Given the description of an element on the screen output the (x, y) to click on. 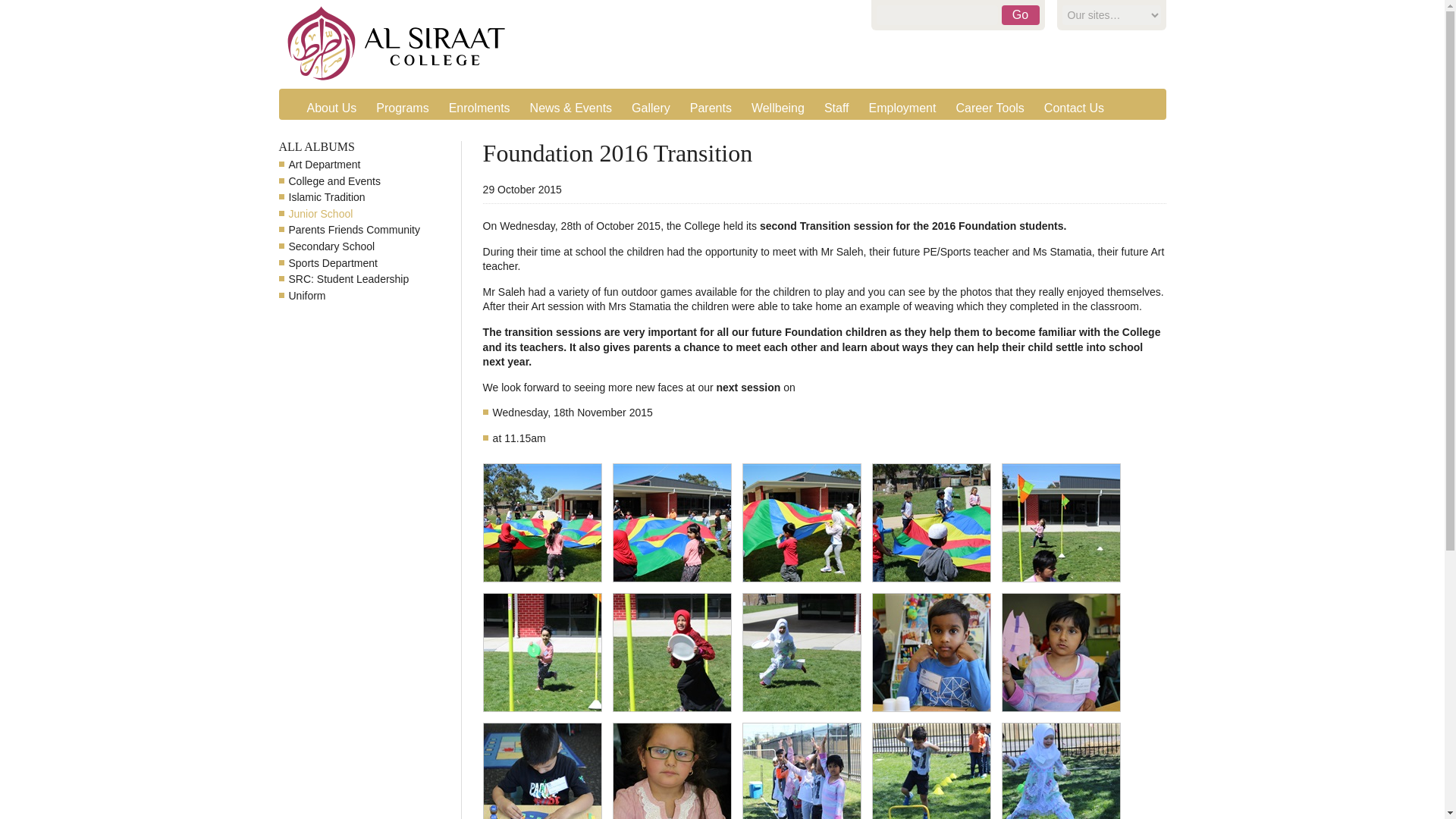
Go (1020, 14)
Programs (402, 107)
Enrolments (480, 107)
Go (1020, 14)
About Us (332, 107)
